Given the description of an element on the screen output the (x, y) to click on. 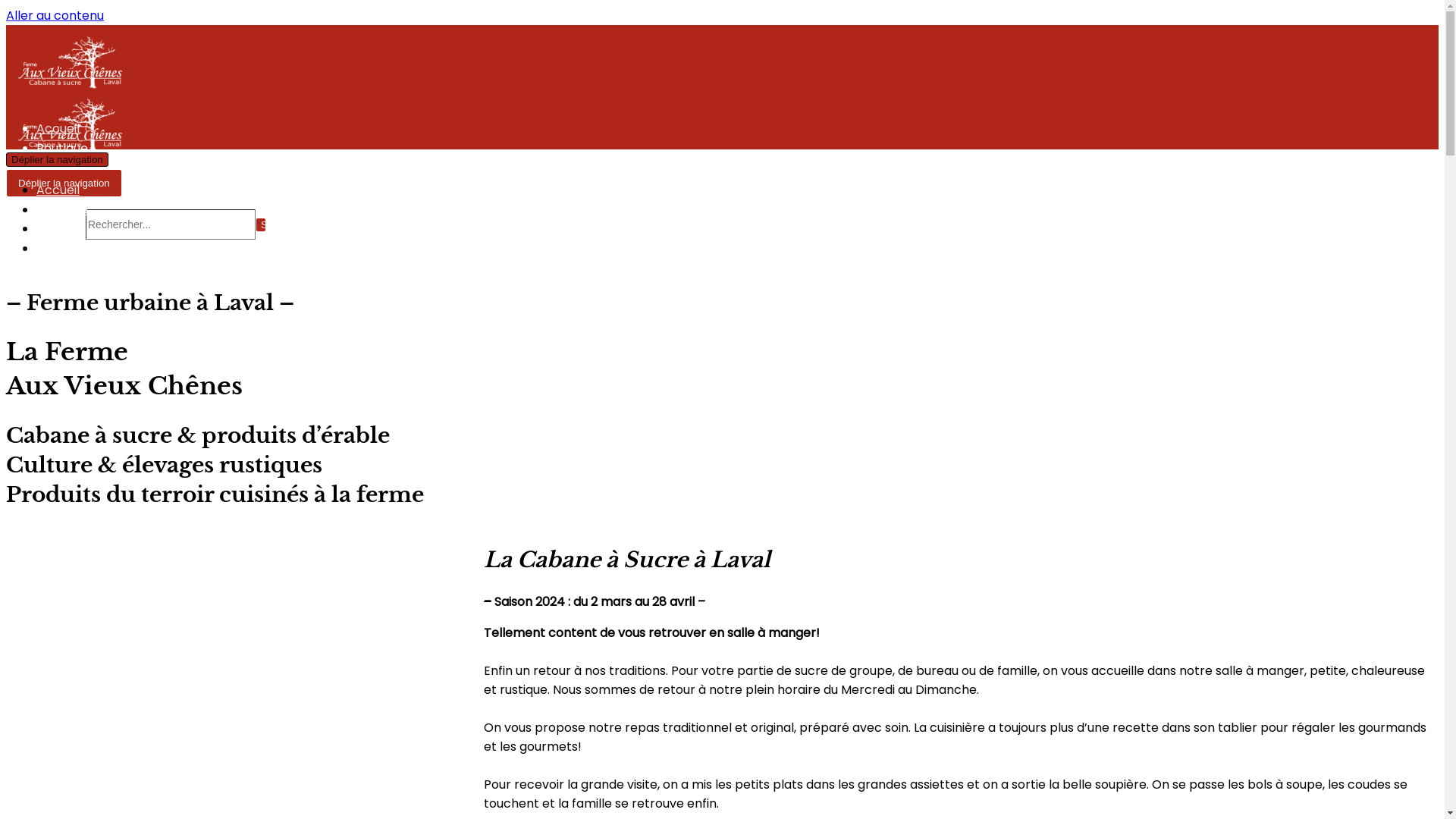
Panier Element type: text (55, 228)
Boutique Element type: text (61, 209)
Aller au contenu Element type: text (54, 15)
Boutique Element type: text (61, 147)
Panier Element type: text (55, 166)
Search Element type: text (260, 224)
Accueil Element type: text (57, 128)
Accueil Element type: text (57, 189)
